Given the description of an element on the screen output the (x, y) to click on. 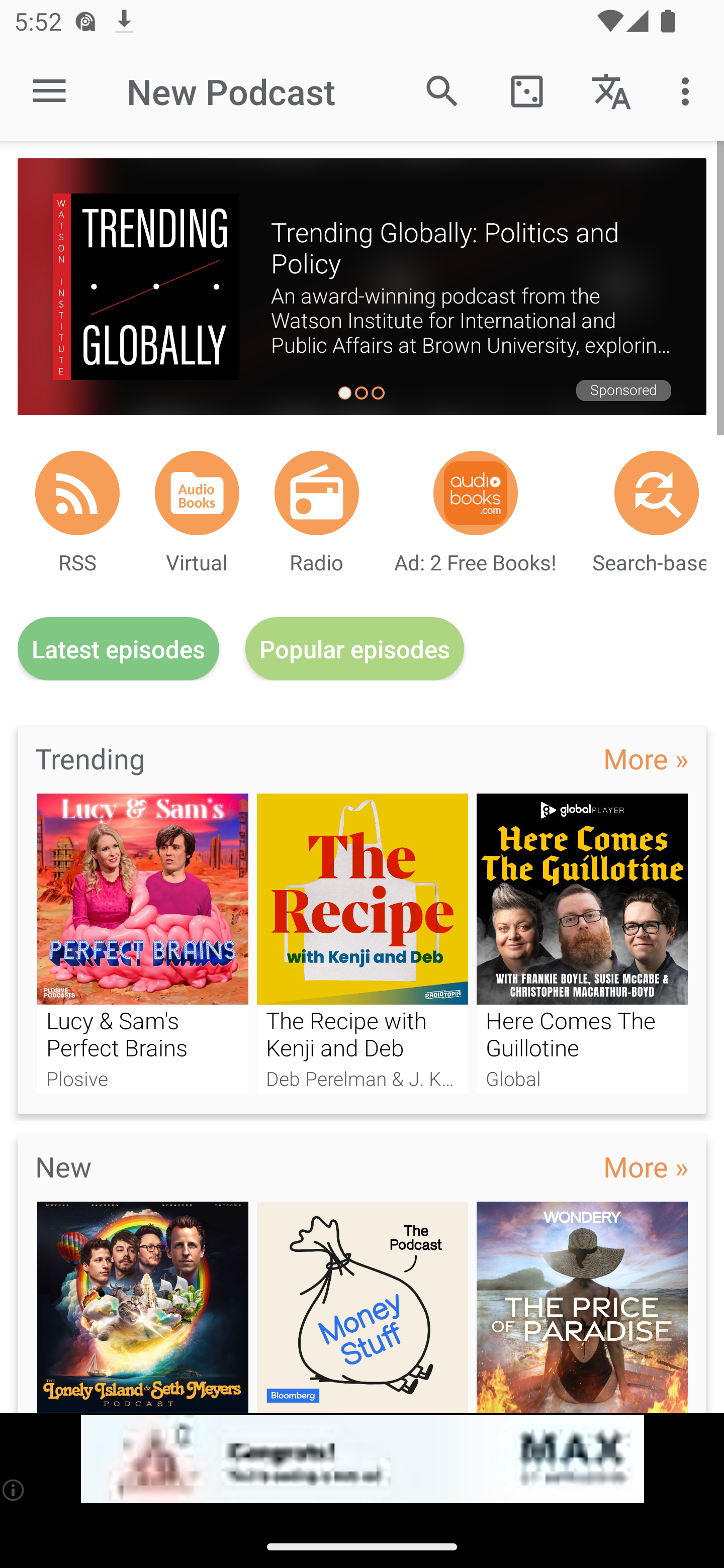
Open navigation sidebar (49, 91)
Search (442, 90)
Random pick (526, 90)
Podcast languages (611, 90)
More options (688, 90)
RSS (77, 492)
Virtual (196, 492)
Radio (316, 492)
Search-based (656, 492)
Latest episodes (118, 648)
Popular episodes (354, 648)
More » (645, 757)
Lucy & Sam's Perfect Brains Plosive (142, 942)
Here Comes The Guillotine Global (581, 942)
More » (645, 1166)
The Lonely Island and Seth Meyers Podcast (142, 1306)
Money Stuff: The Podcast (362, 1306)
The Price of Paradise (581, 1306)
app-monetization (362, 1459)
(i) (14, 1489)
